Given the description of an element on the screen output the (x, y) to click on. 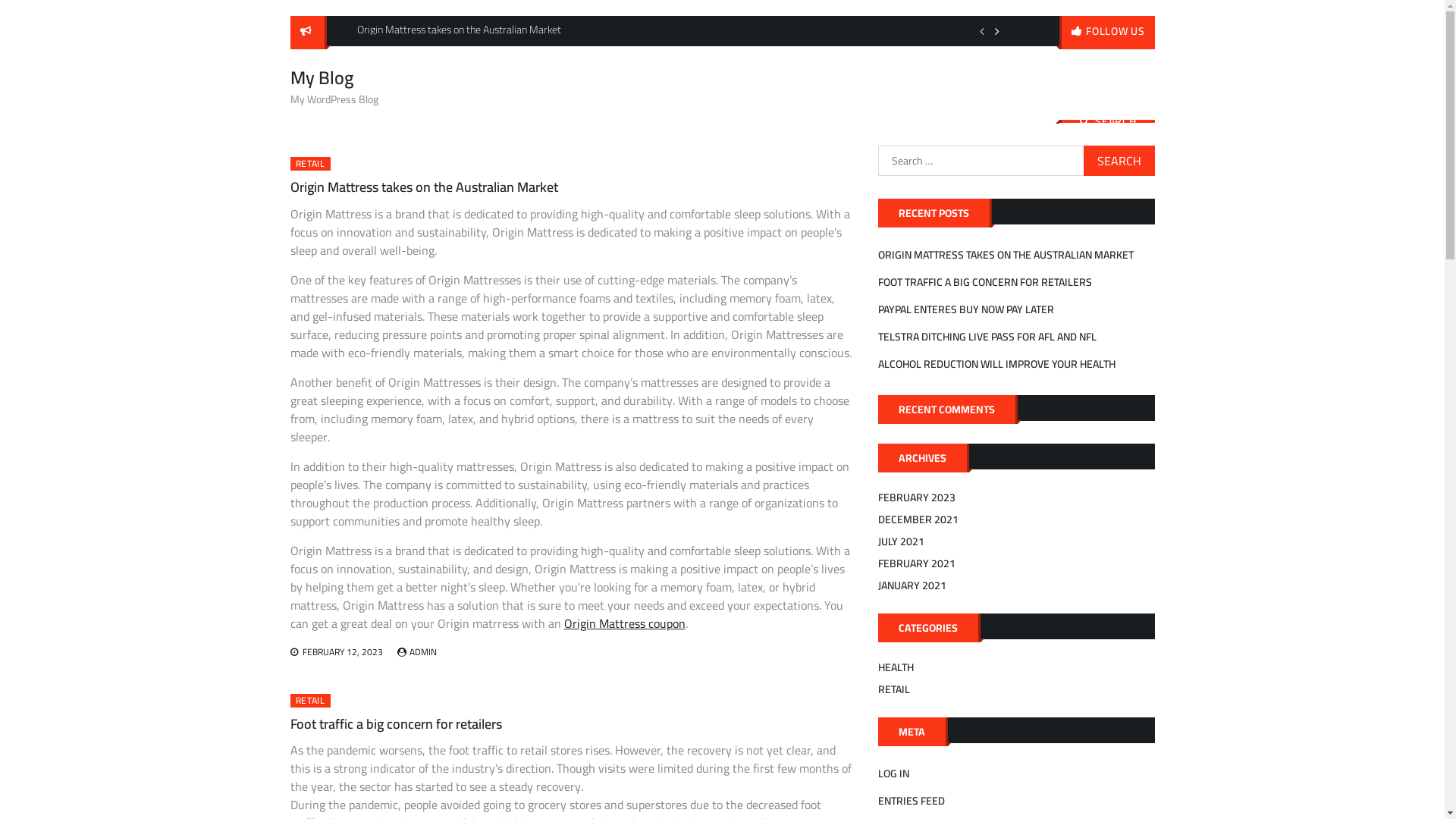
DECEMBER 2021 Element type: text (918, 519)
JANUARY 2021 Element type: text (912, 585)
PREVIOUS Element type: text (981, 30)
ALCOHOL REDUCTION WILL IMPROVE YOUR HEALTH Element type: text (996, 363)
Search Element type: text (1118, 160)
ENTRIES FEED Element type: text (911, 800)
My Blog Element type: text (320, 77)
HEALTH Element type: text (895, 667)
SEARCH Element type: text (1106, 120)
ORIGIN MATTRESS TAKES ON THE AUSTRALIAN MARKET Element type: text (1005, 254)
Origin Mattress coupon Element type: text (624, 622)
NEXT Element type: text (996, 30)
FEBRUARY 2023 Element type: text (916, 497)
FOLLOW US Element type: text (1106, 32)
RETAIL Element type: text (894, 689)
Origin Mattress takes on the Australian Market Element type: text (423, 186)
LOG IN Element type: text (893, 773)
RETAIL Element type: text (309, 700)
Foot traffic a big concern for retailers Element type: text (395, 723)
FEBRUARY 12, 2023 Element type: text (341, 651)
FEBRUARY 2021 Element type: text (916, 563)
FOOT TRAFFIC A BIG CONCERN FOR RETAILERS Element type: text (985, 281)
PAYPAL ENTERES BUY NOW PAY LATER Element type: text (966, 309)
TELSTRA DITCHING LIVE PASS FOR AFL AND NFL Element type: text (987, 336)
JULY 2021 Element type: text (901, 541)
RETAIL Element type: text (309, 163)
ADMIN Element type: text (422, 651)
